Given the description of an element on the screen output the (x, y) to click on. 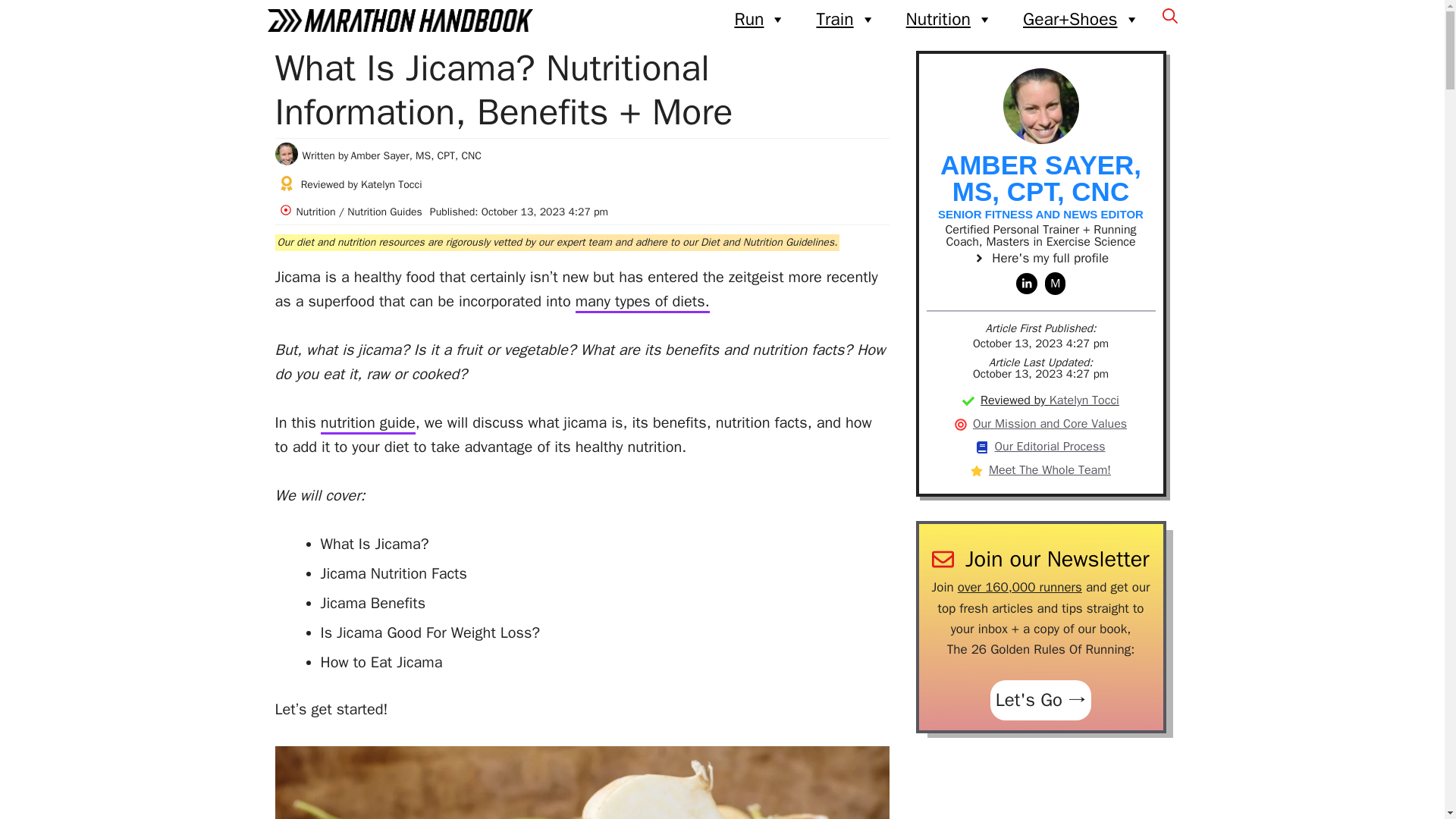
Run (759, 19)
